Given the description of an element on the screen output the (x, y) to click on. 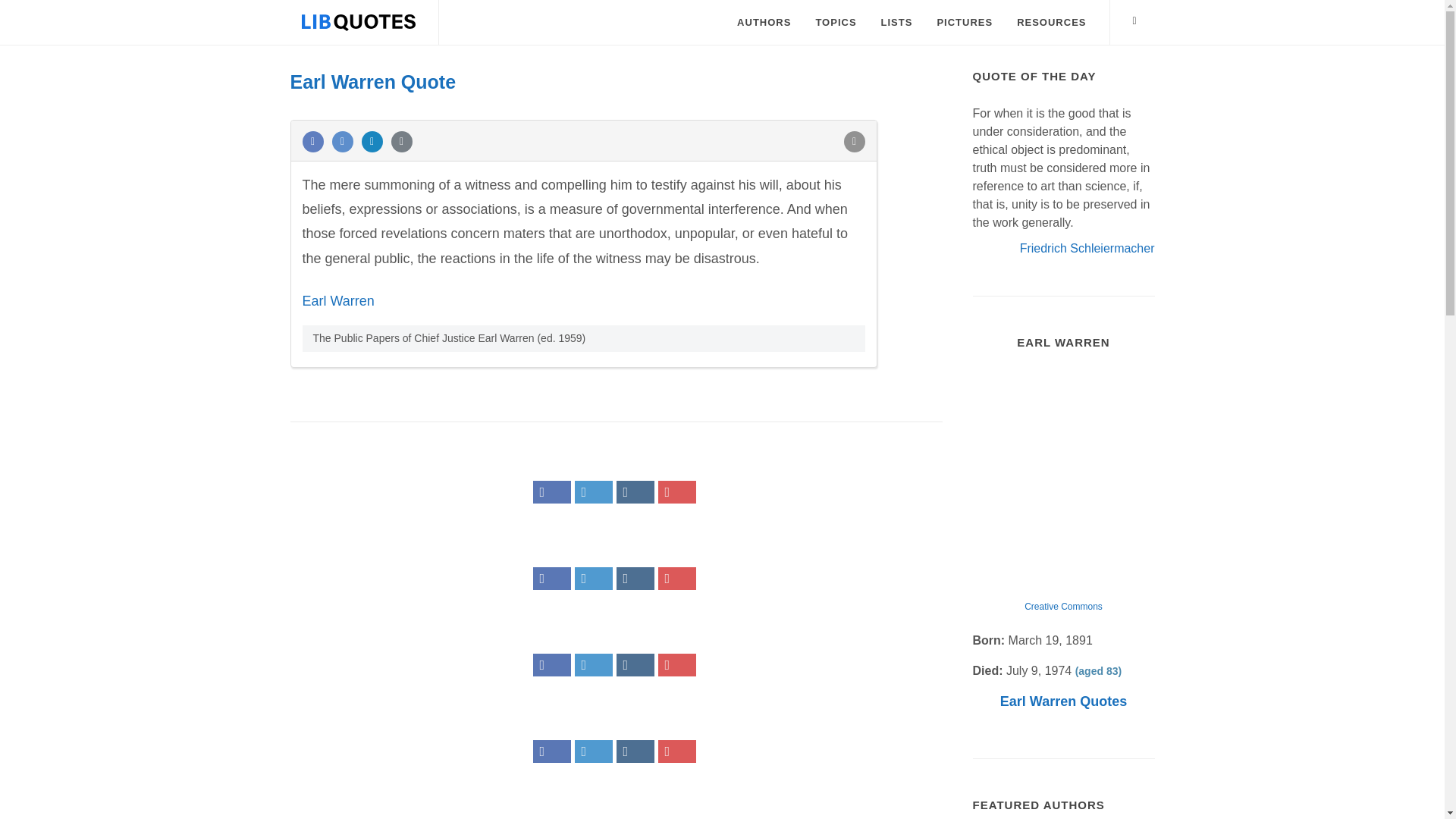
Earl Warren Quotes (1063, 701)
Earl Warren (337, 300)
Creative Commons (1063, 606)
TOPICS (835, 22)
Friedrich Schleiermacher (1087, 246)
RESOURCES (1051, 22)
PICTURES (964, 22)
AUTHORS (763, 22)
LISTS (896, 22)
